Given the description of an element on the screen output the (x, y) to click on. 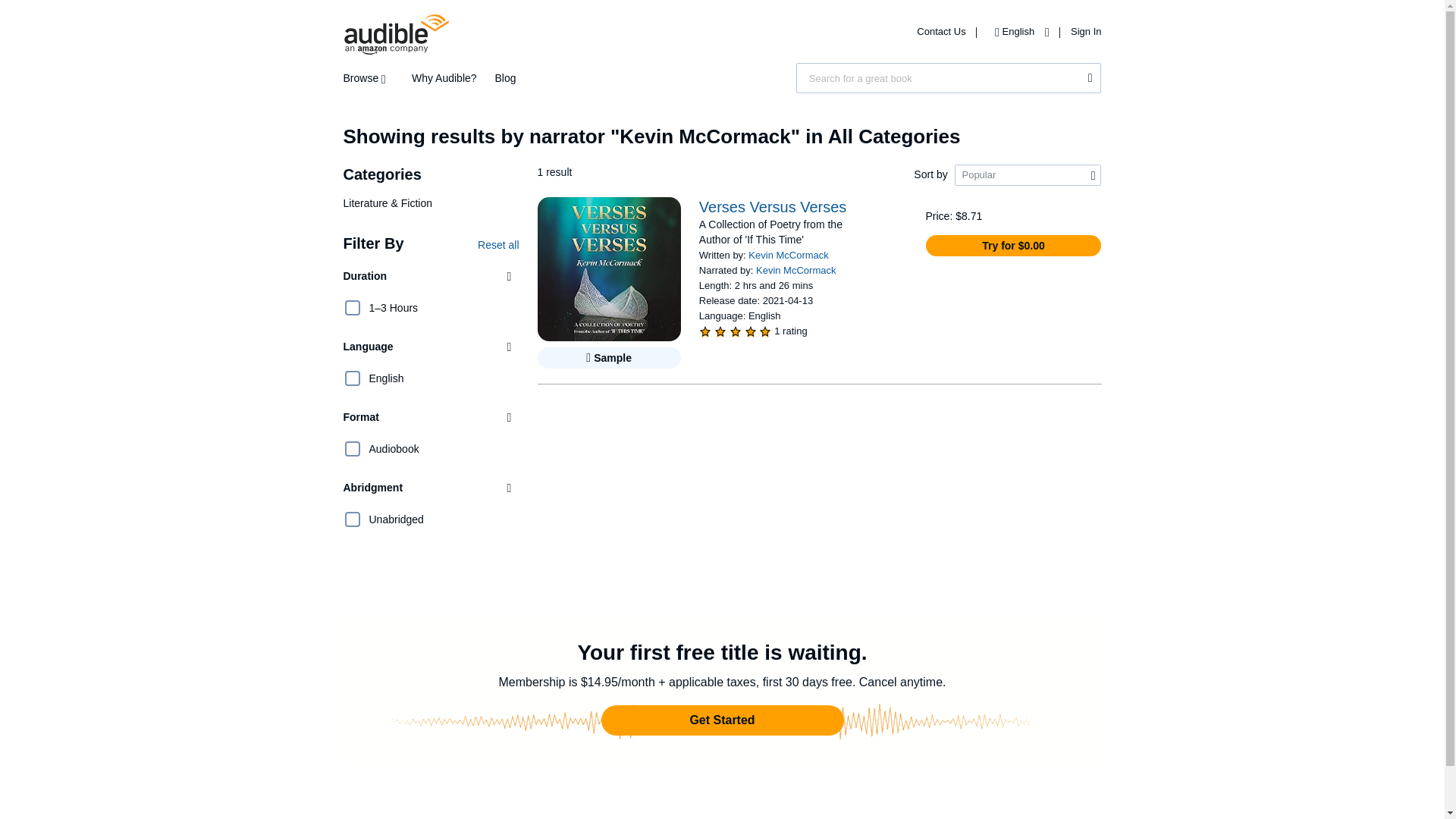
Why Audible? (444, 78)
20971787011 (352, 519)
Language (430, 346)
Sign In (1085, 30)
Reset all (497, 244)
20971852011 (352, 378)
Duration (430, 276)
Blog (505, 78)
Contact Us (942, 30)
20971816011 (352, 307)
